Given the description of an element on the screen output the (x, y) to click on. 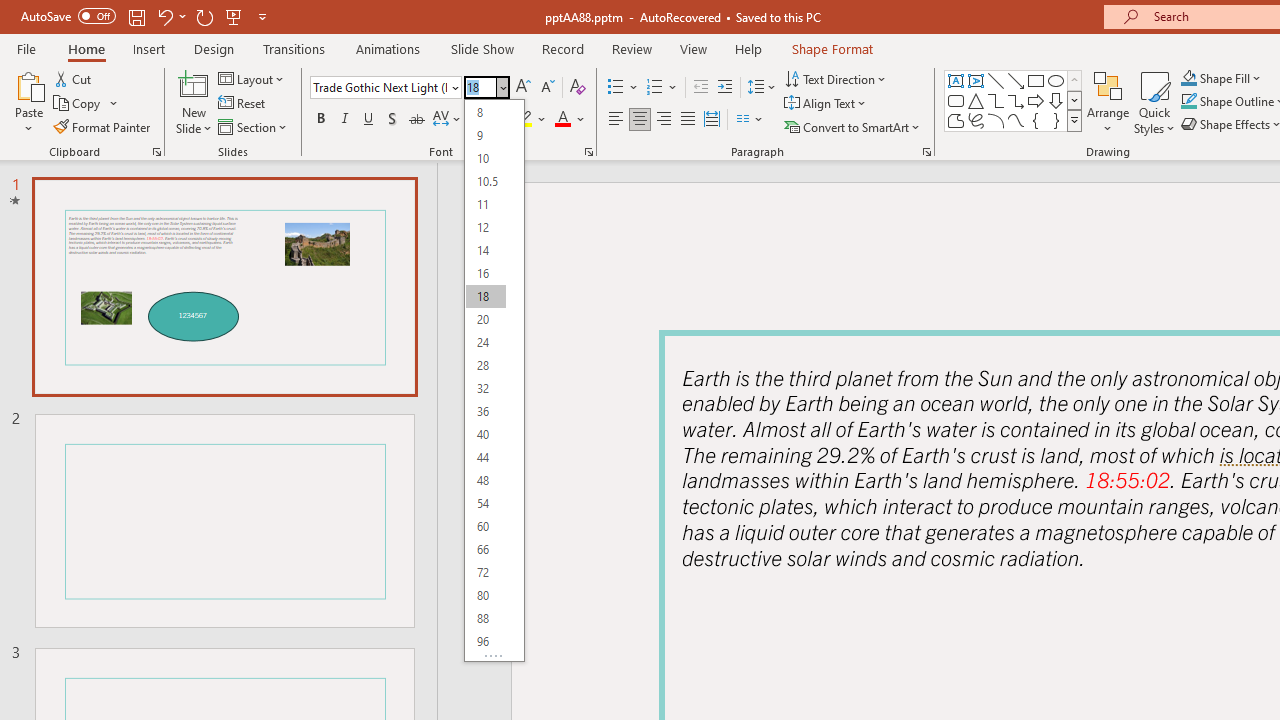
40 (485, 434)
9 (485, 134)
88 (485, 618)
80 (485, 594)
Shape Fill Aqua, Accent 2 (1188, 78)
24 (485, 342)
32 (485, 388)
